Given the description of an element on the screen output the (x, y) to click on. 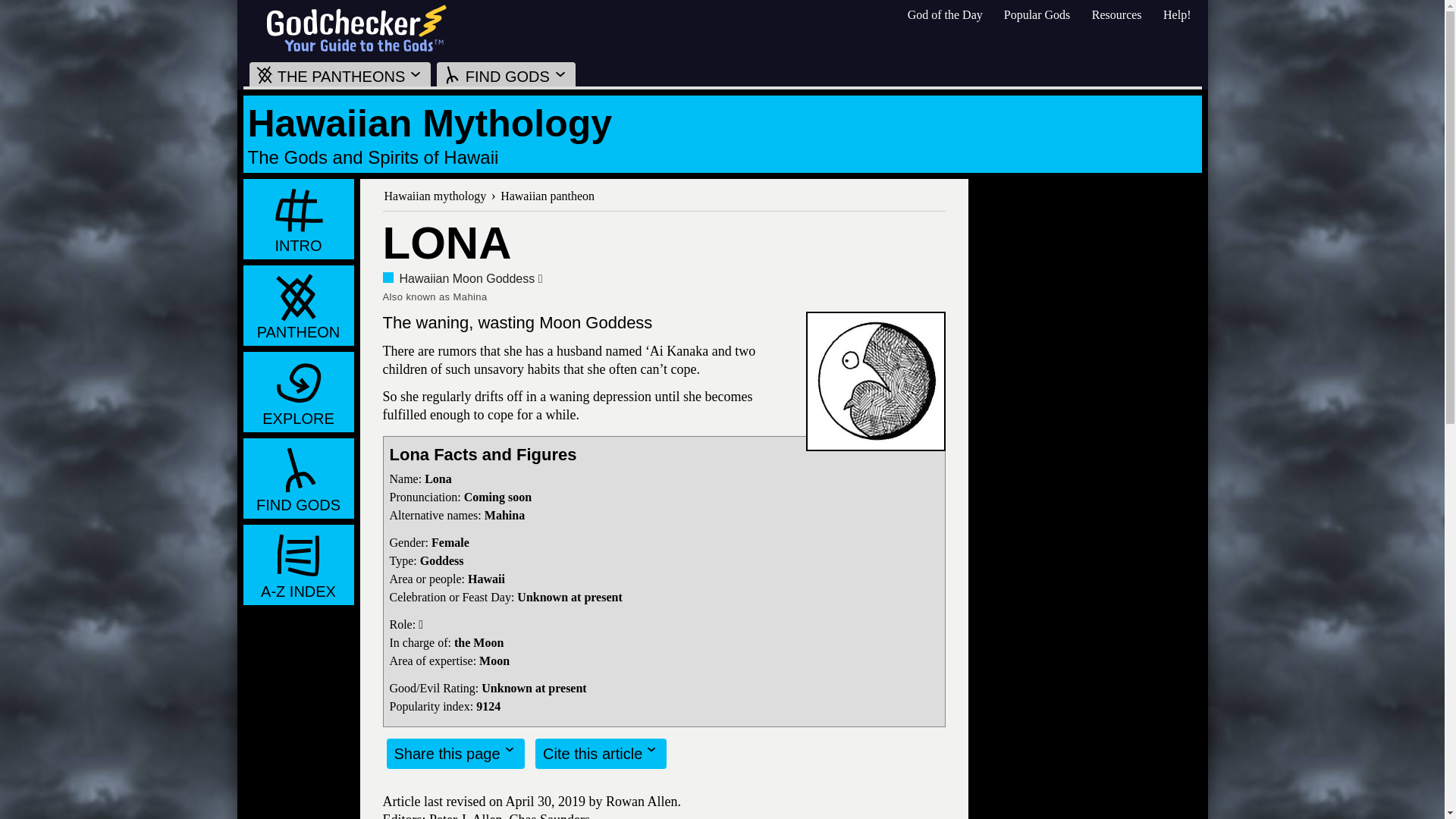
Resources (1116, 14)
Help! (1176, 14)
God of the Day (944, 14)
Popular Gods (1037, 14)
FIND GODS (505, 74)
THE PANTHEONS (339, 74)
